Given the description of an element on the screen output the (x, y) to click on. 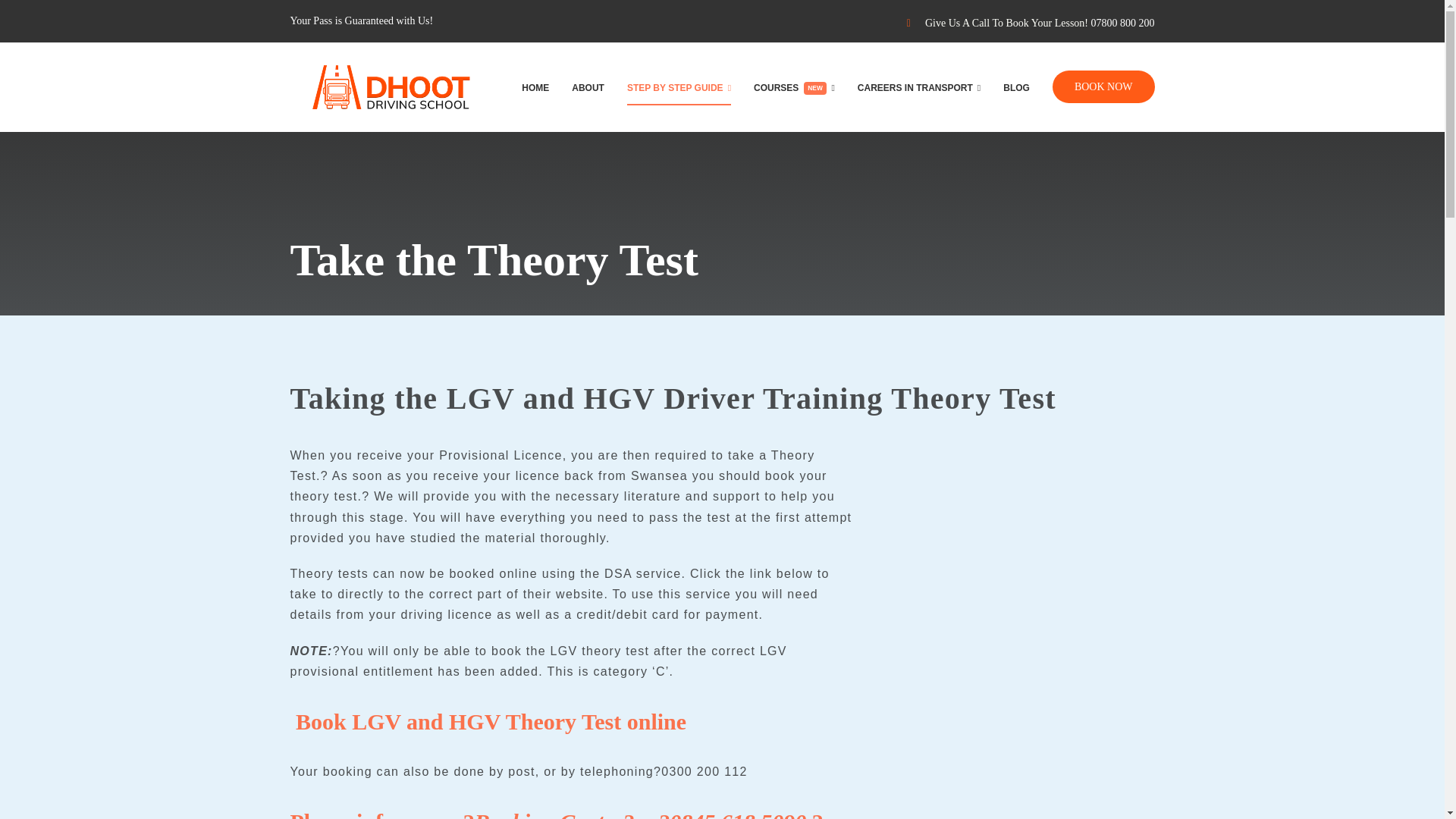
STEP BY STEP GUIDE (678, 86)
ABOUT (588, 86)
07800 800 200 (1122, 22)
